Given the description of an element on the screen output the (x, y) to click on. 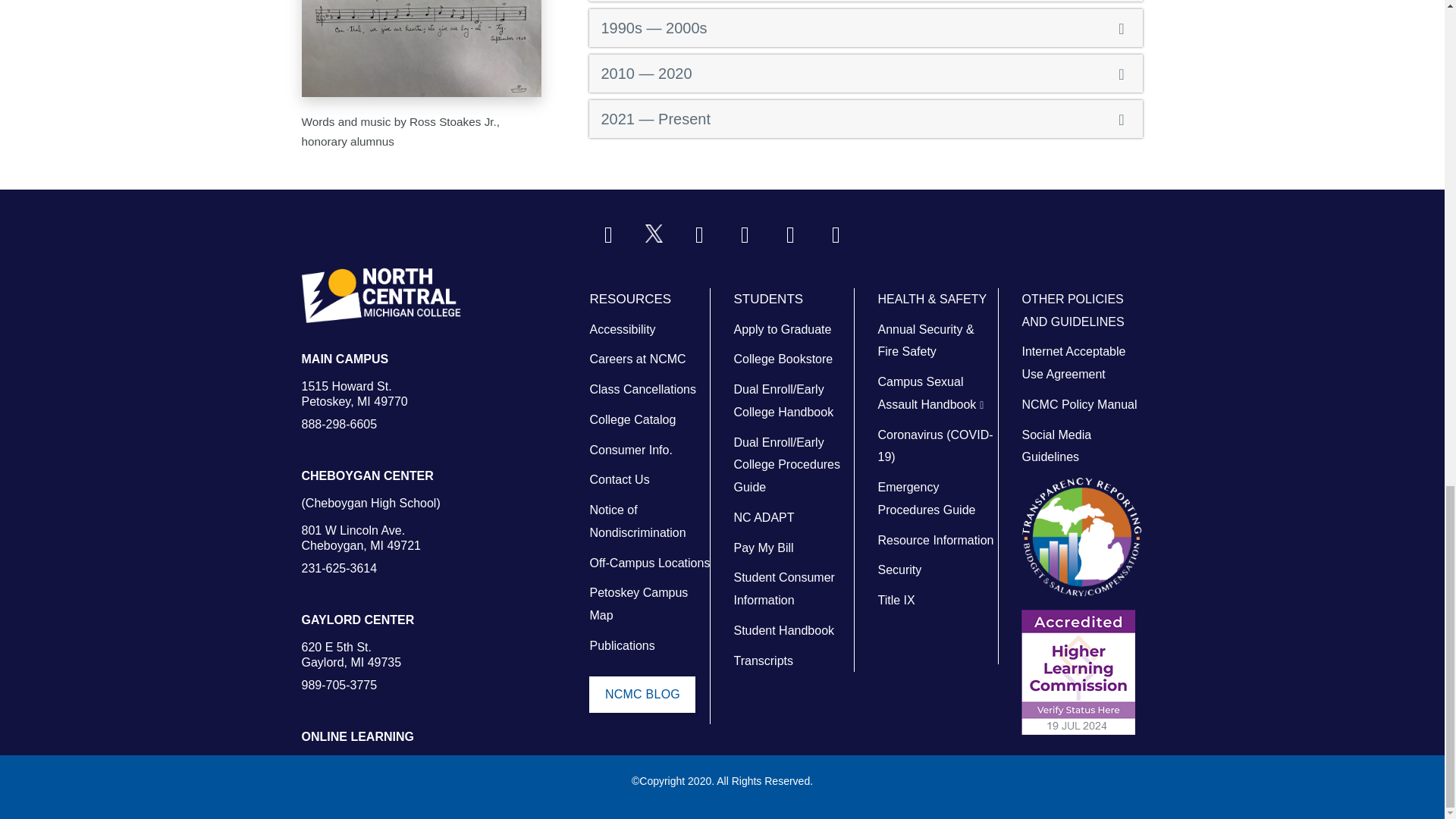
Accessibility (622, 328)
Pay My Bill (763, 547)
Transcripts (763, 660)
Student Handbook (783, 630)
Apply for Graduation (782, 328)
Contact Us (619, 479)
NCN Noncurrent Enrollment Procedures Guide (786, 464)
Class Cancellations (642, 389)
NCN Student Handbook (782, 400)
NC ADAPT (763, 517)
